Given the description of an element on the screen output the (x, y) to click on. 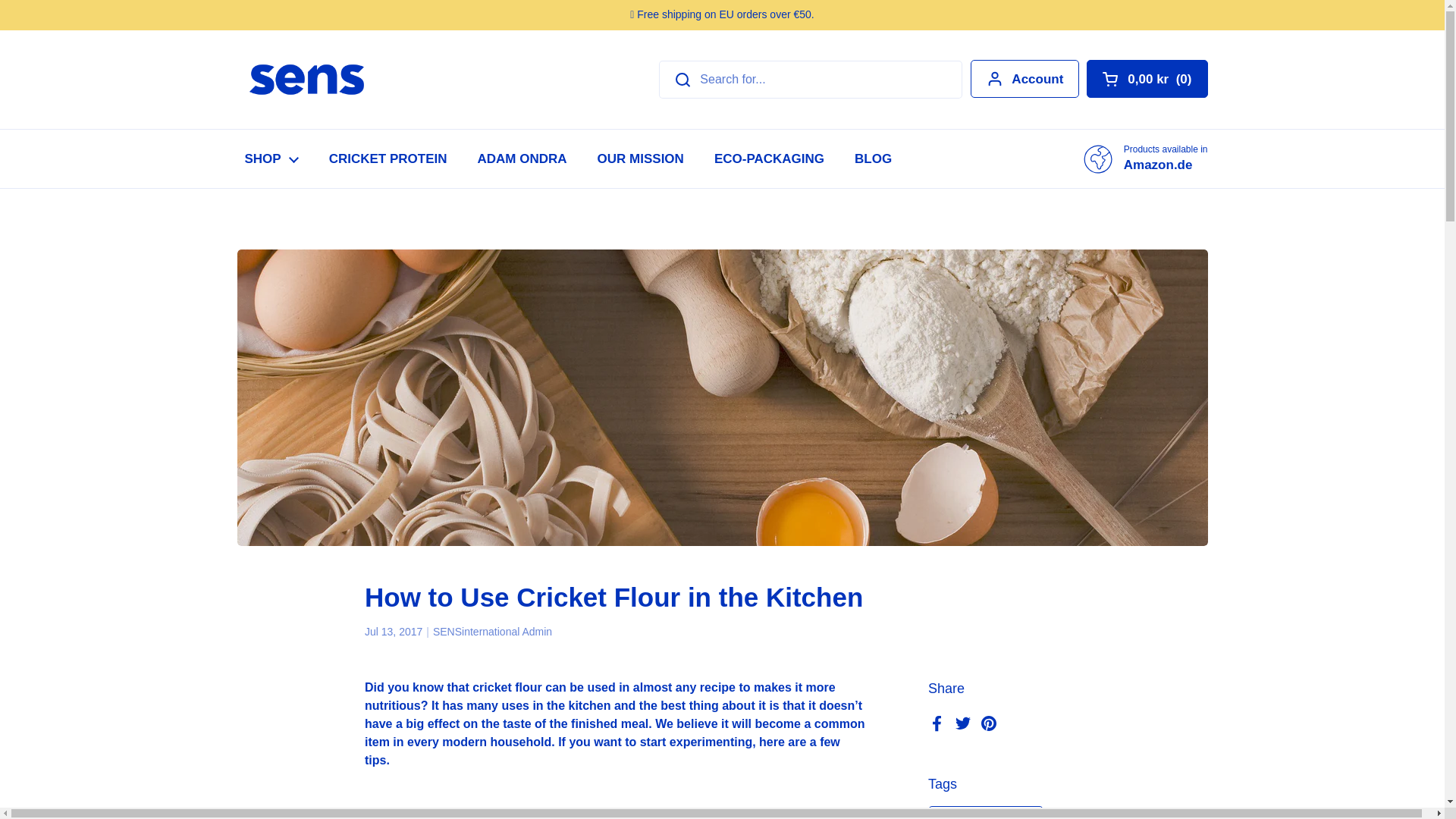
CRICKET PROTEIN (388, 158)
Open cart (1146, 78)
Account (1024, 78)
BLOG (873, 158)
ADAM ONDRA (522, 158)
EatSens.com (305, 79)
SHOP (270, 158)
ECO-PACKAGING (769, 158)
OUR MISSION (640, 158)
